Given the description of an element on the screen output the (x, y) to click on. 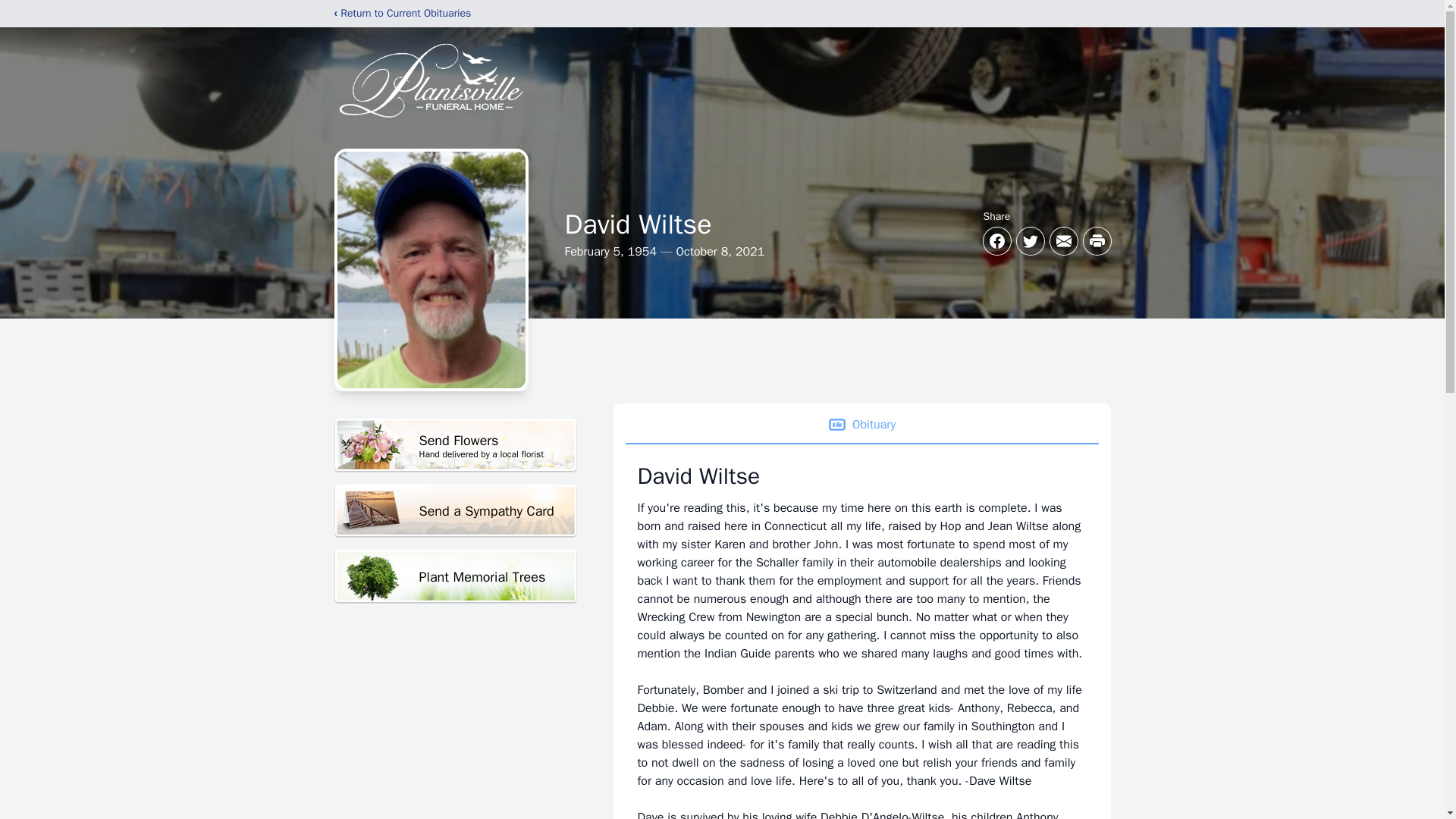
Obituary (860, 425)
Plant Memorial Trees (454, 576)
Send a Sympathy Card (454, 445)
